Given the description of an element on the screen output the (x, y) to click on. 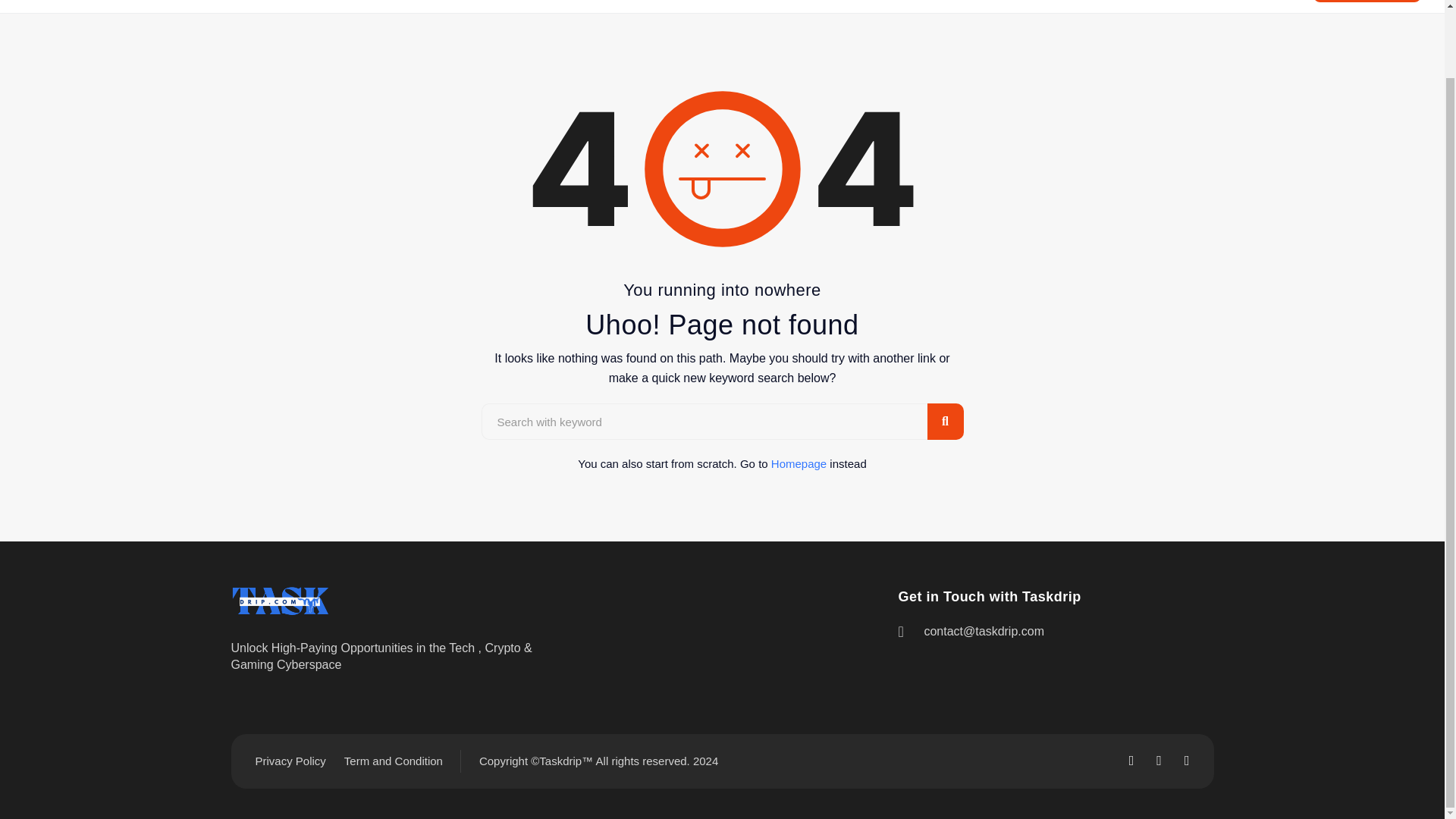
Privacy Policy (289, 761)
Contact Us (1206, 6)
Term and Condition (392, 761)
Home (807, 6)
Job Hub (1134, 6)
Partnership (1061, 6)
About Us (869, 6)
Homepage (799, 463)
